Given the description of an element on the screen output the (x, y) to click on. 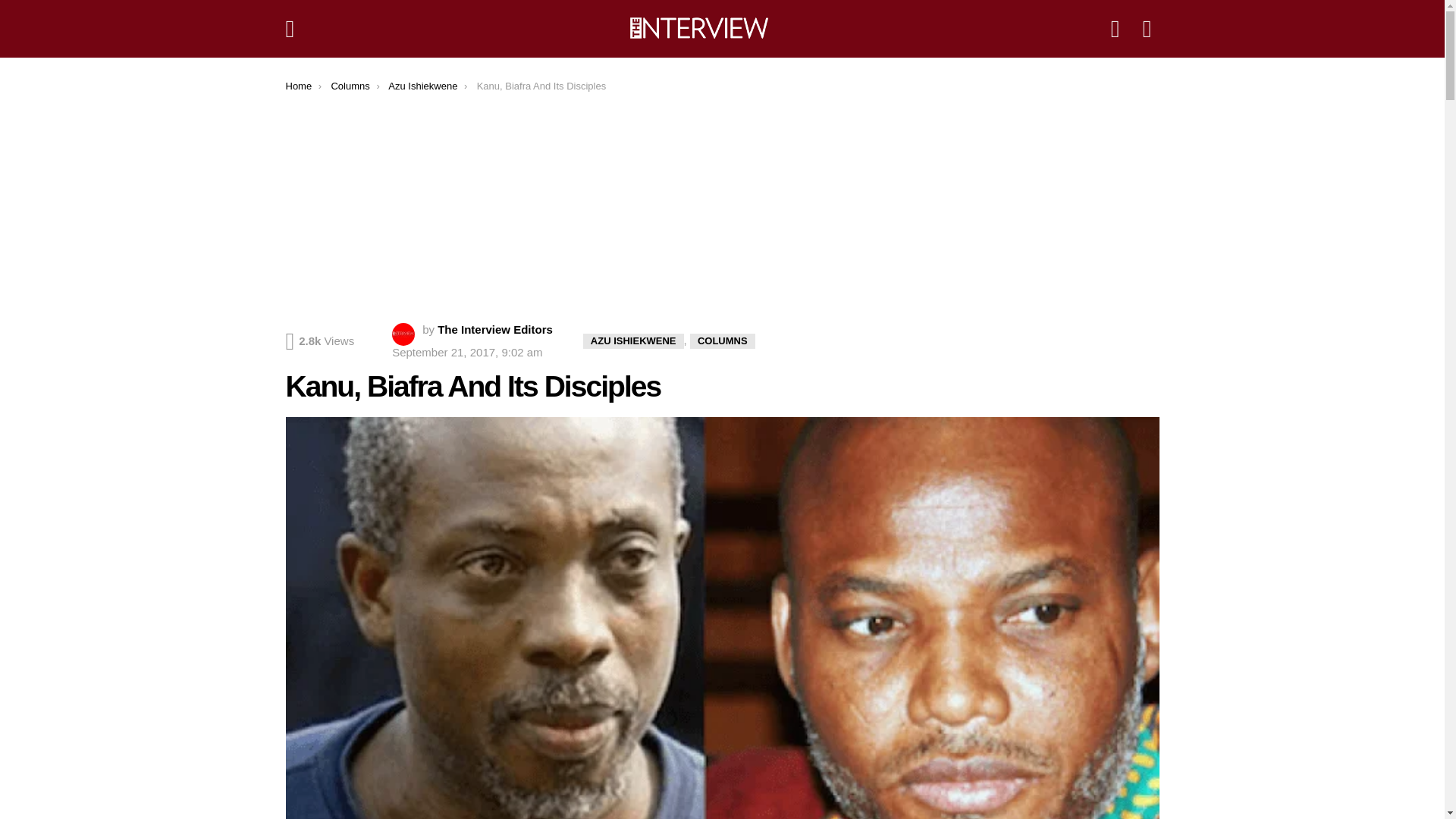
Posts by The Interview Editors (495, 328)
Home (298, 85)
AZU ISHIEKWENE (633, 340)
The Interview Editors (495, 328)
COLUMNS (722, 340)
Azu Ishiekwene (422, 85)
Columns (349, 85)
